Given the description of an element on the screen output the (x, y) to click on. 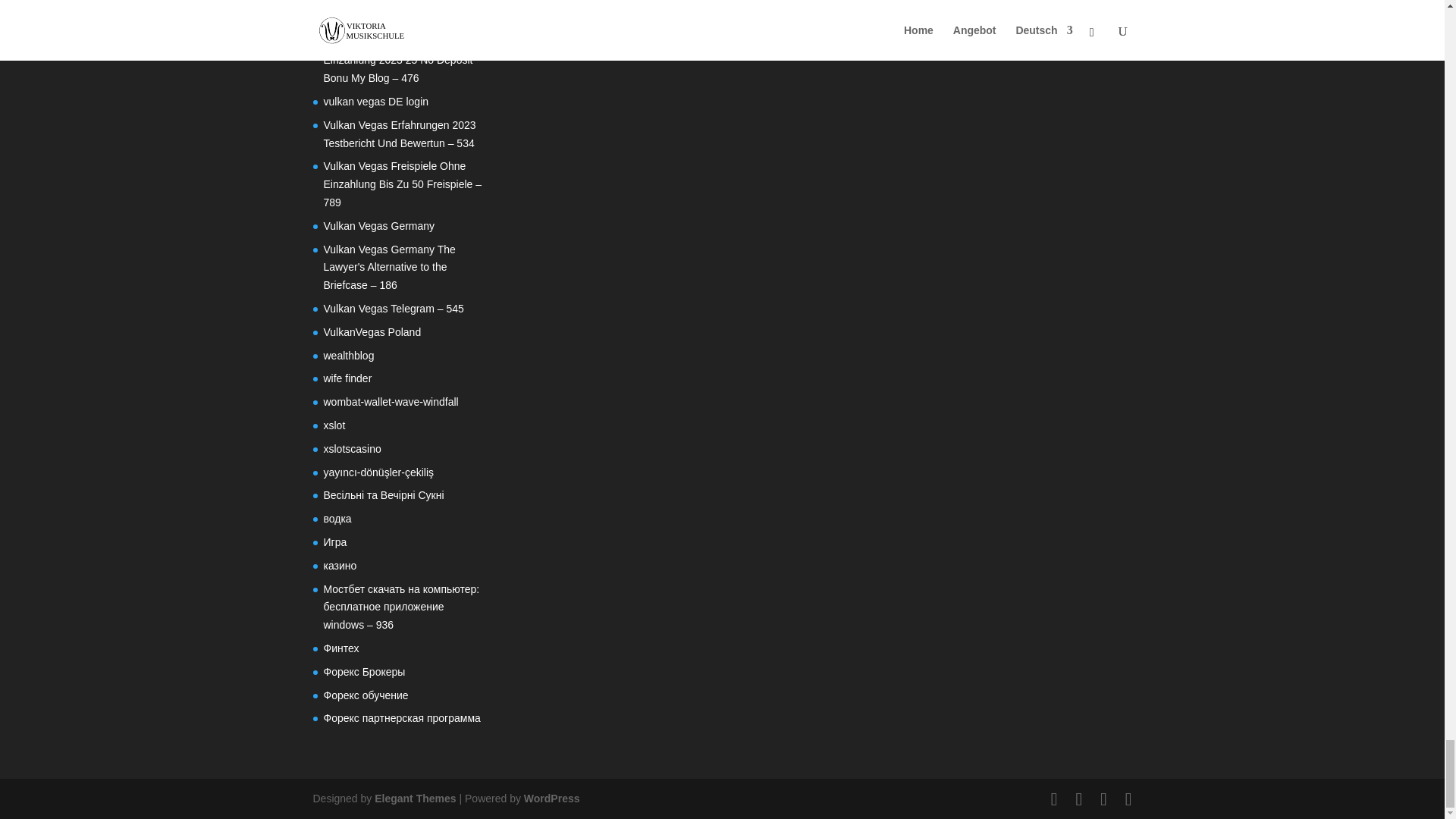
Premium WordPress Themes (414, 798)
